Given the description of an element on the screen output the (x, y) to click on. 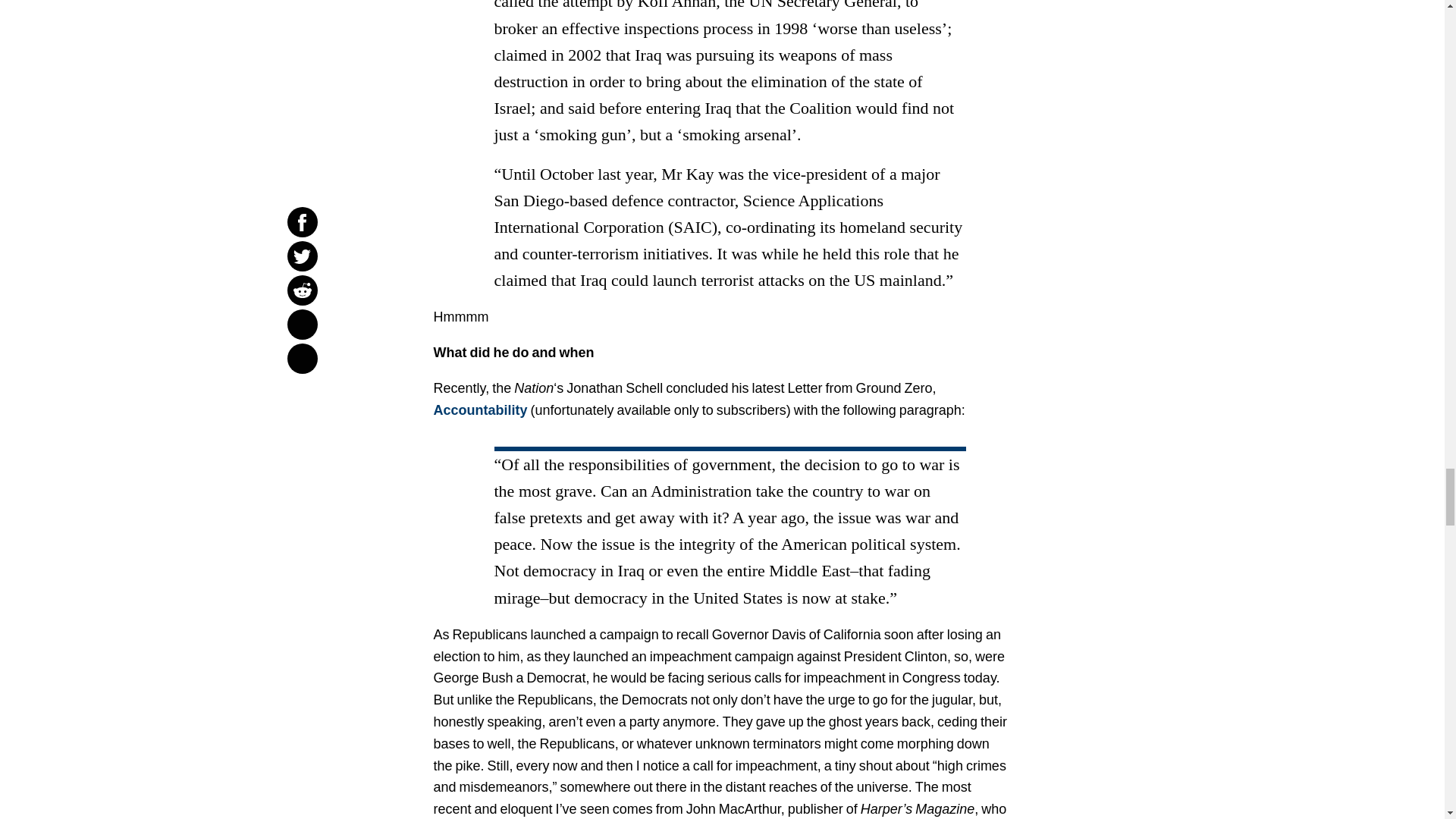
Accountability (480, 410)
